Given the description of an element on the screen output the (x, y) to click on. 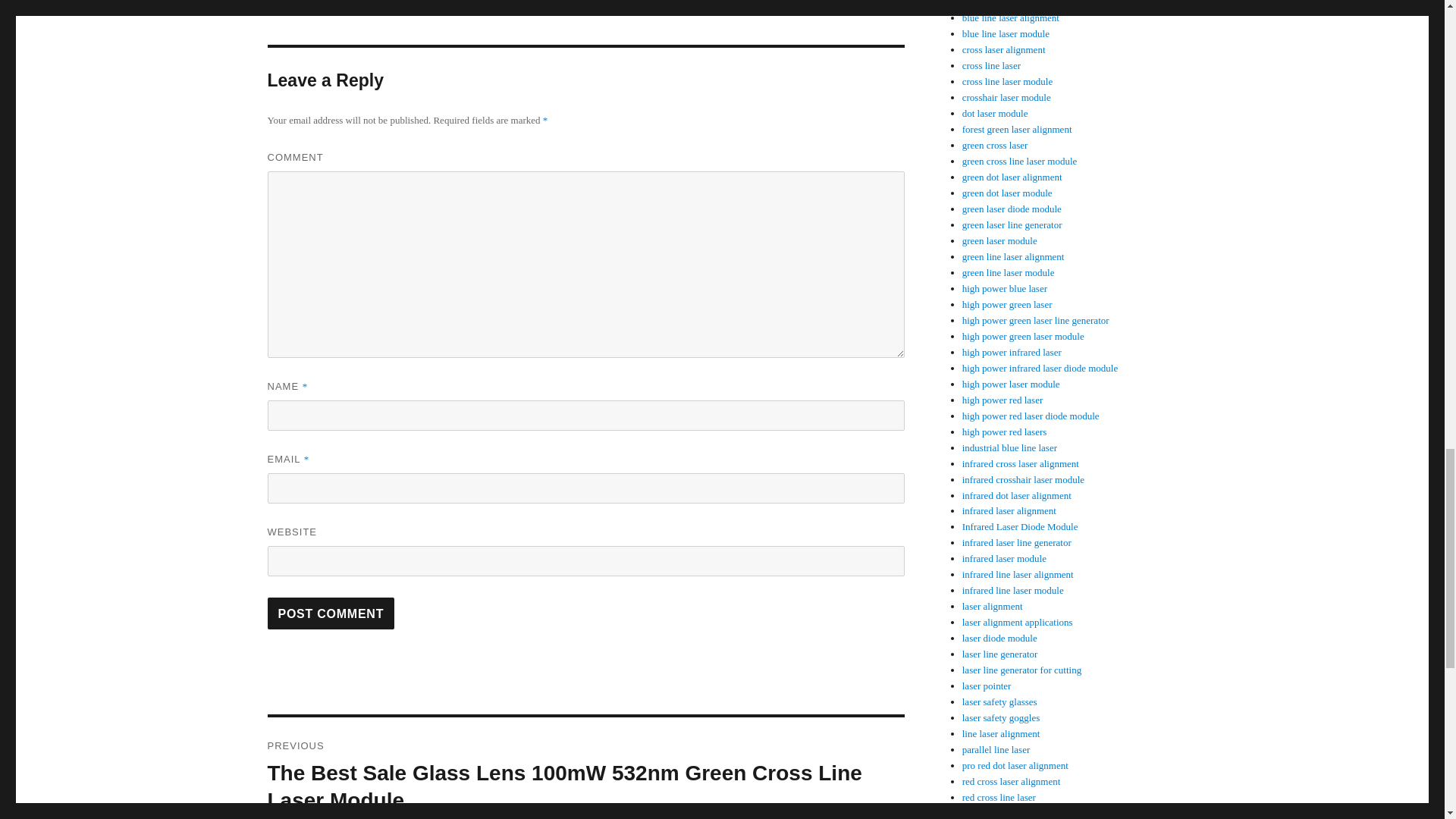
Post Comment (330, 613)
Post Comment (330, 613)
